Given the description of an element on the screen output the (x, y) to click on. 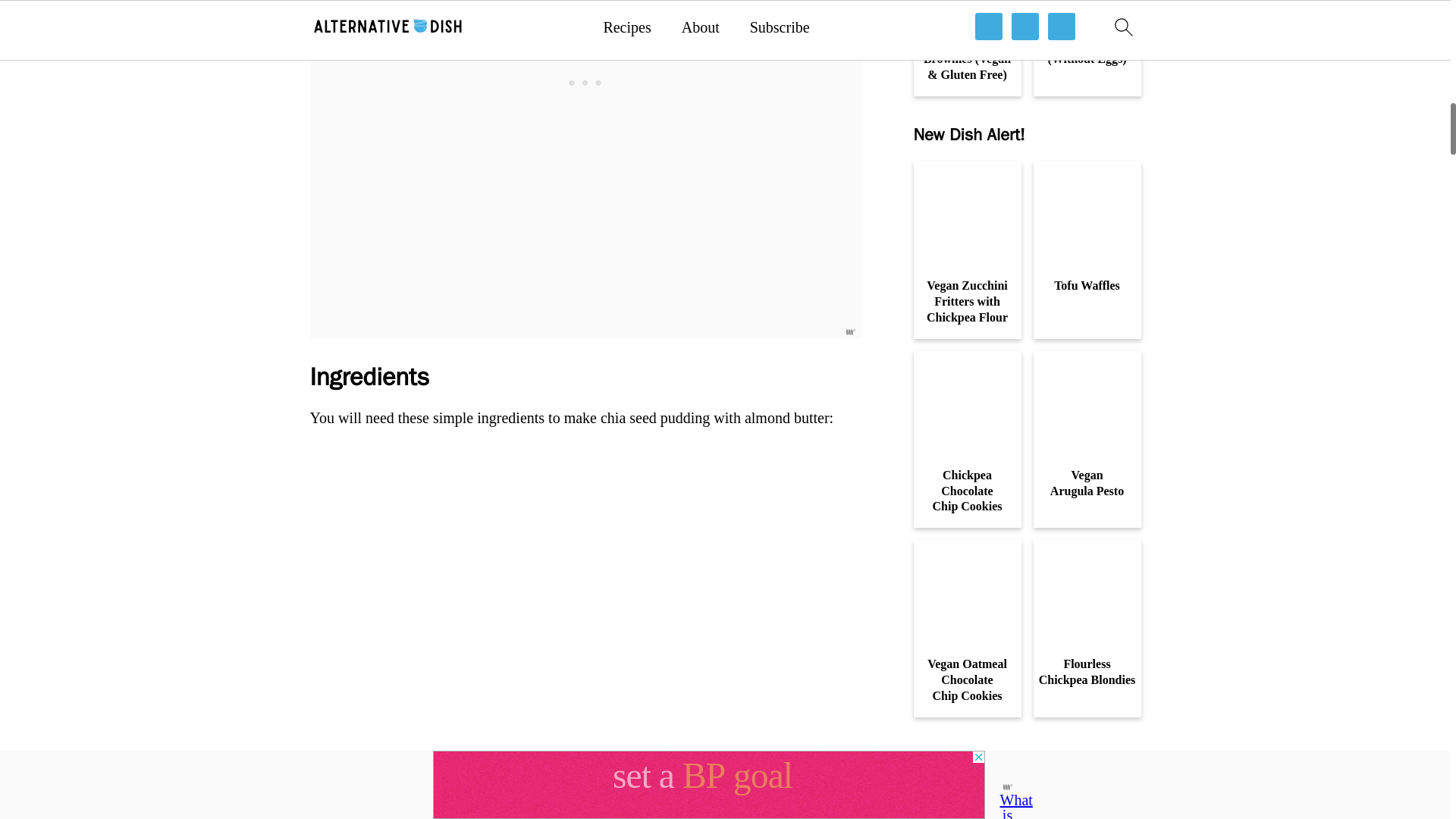
3rd party ad content (585, 23)
3rd party ad content (1026, 780)
